Given the description of an element on the screen output the (x, y) to click on. 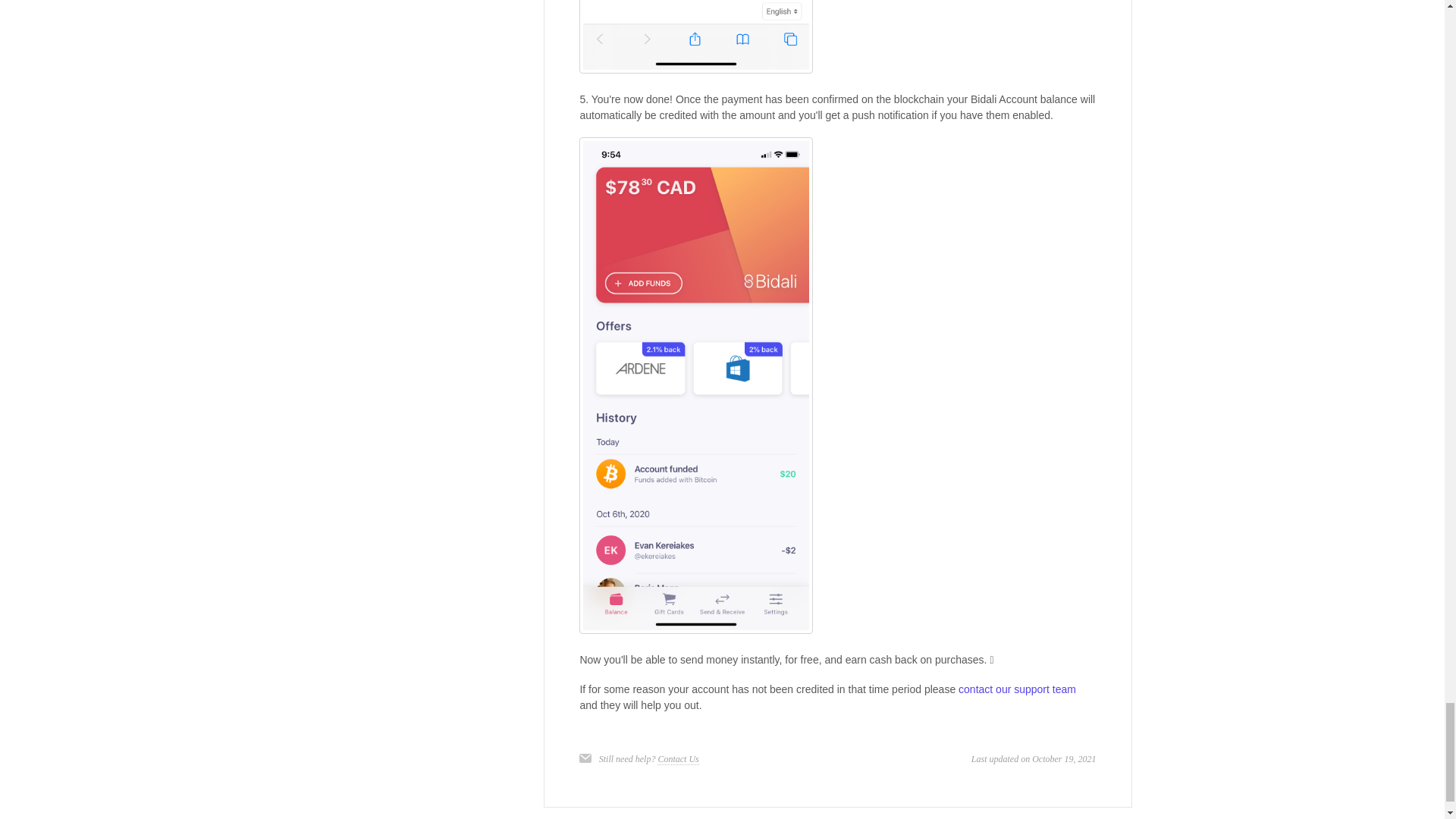
contact our support team (1016, 689)
Contact Us (678, 758)
